Given the description of an element on the screen output the (x, y) to click on. 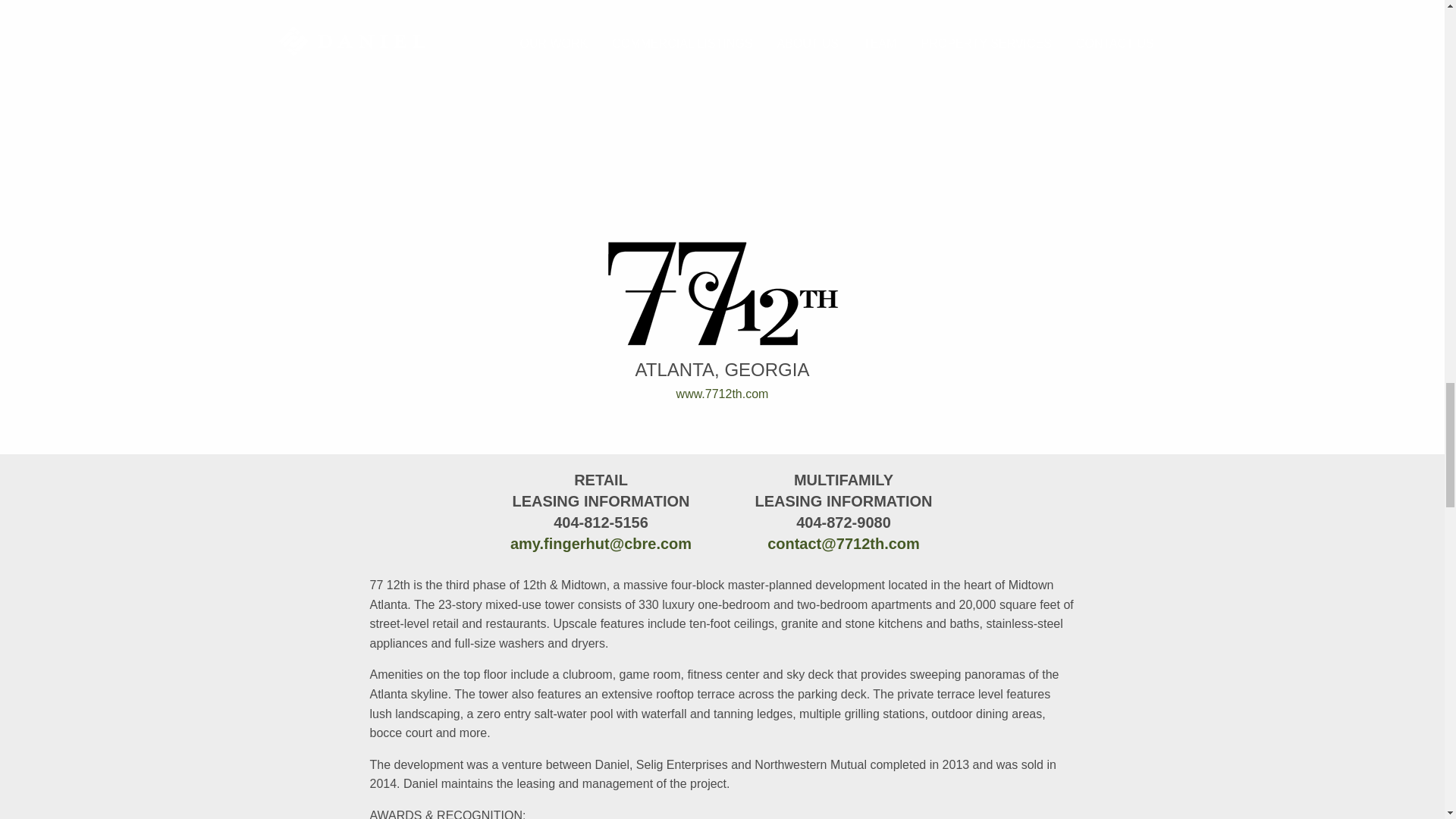
www.7712th.com (722, 393)
Daniel Corporation - 77 12th (721, 292)
